Given the description of an element on the screen output the (x, y) to click on. 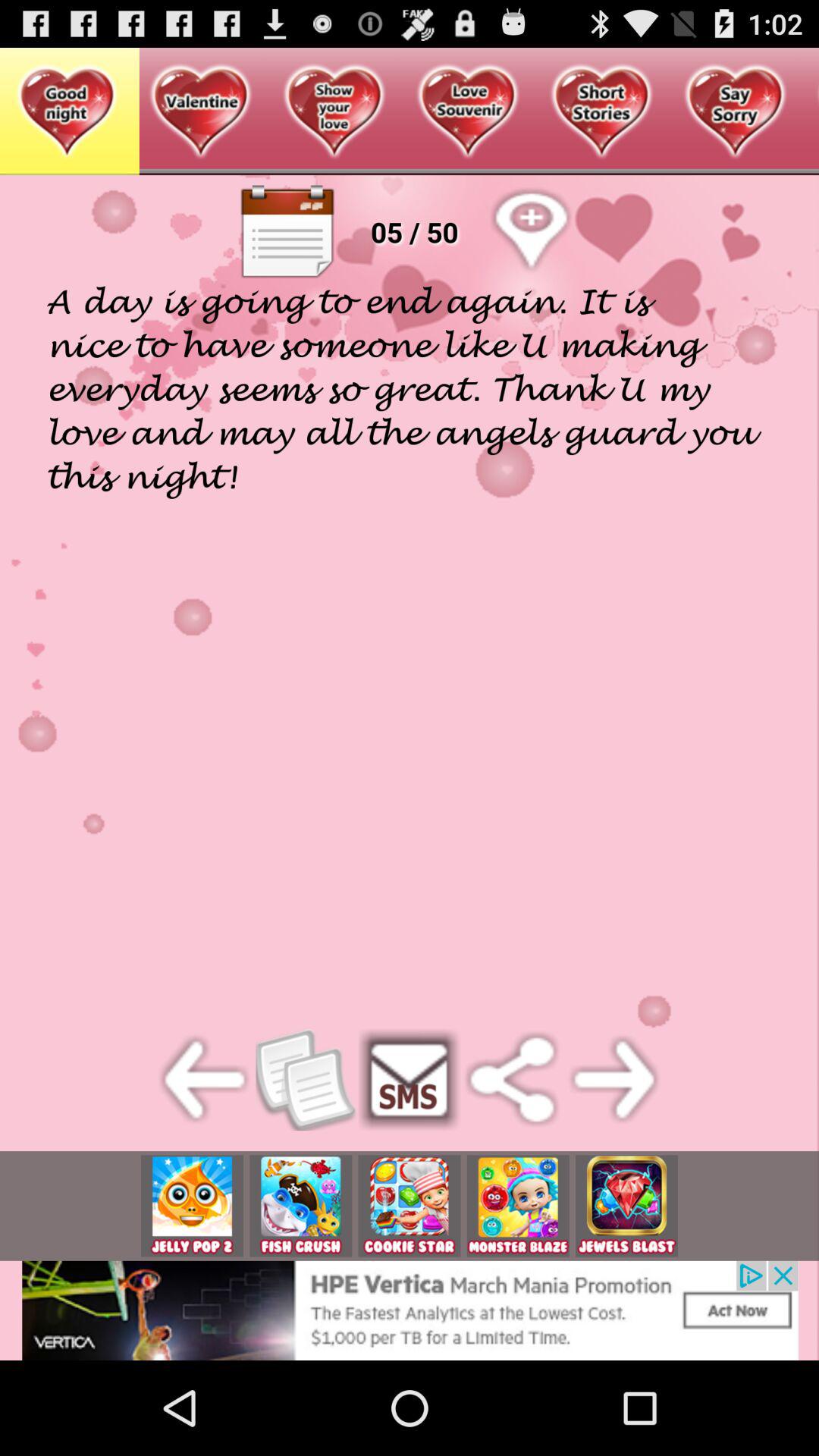
go back (204, 1079)
